Given the description of an element on the screen output the (x, y) to click on. 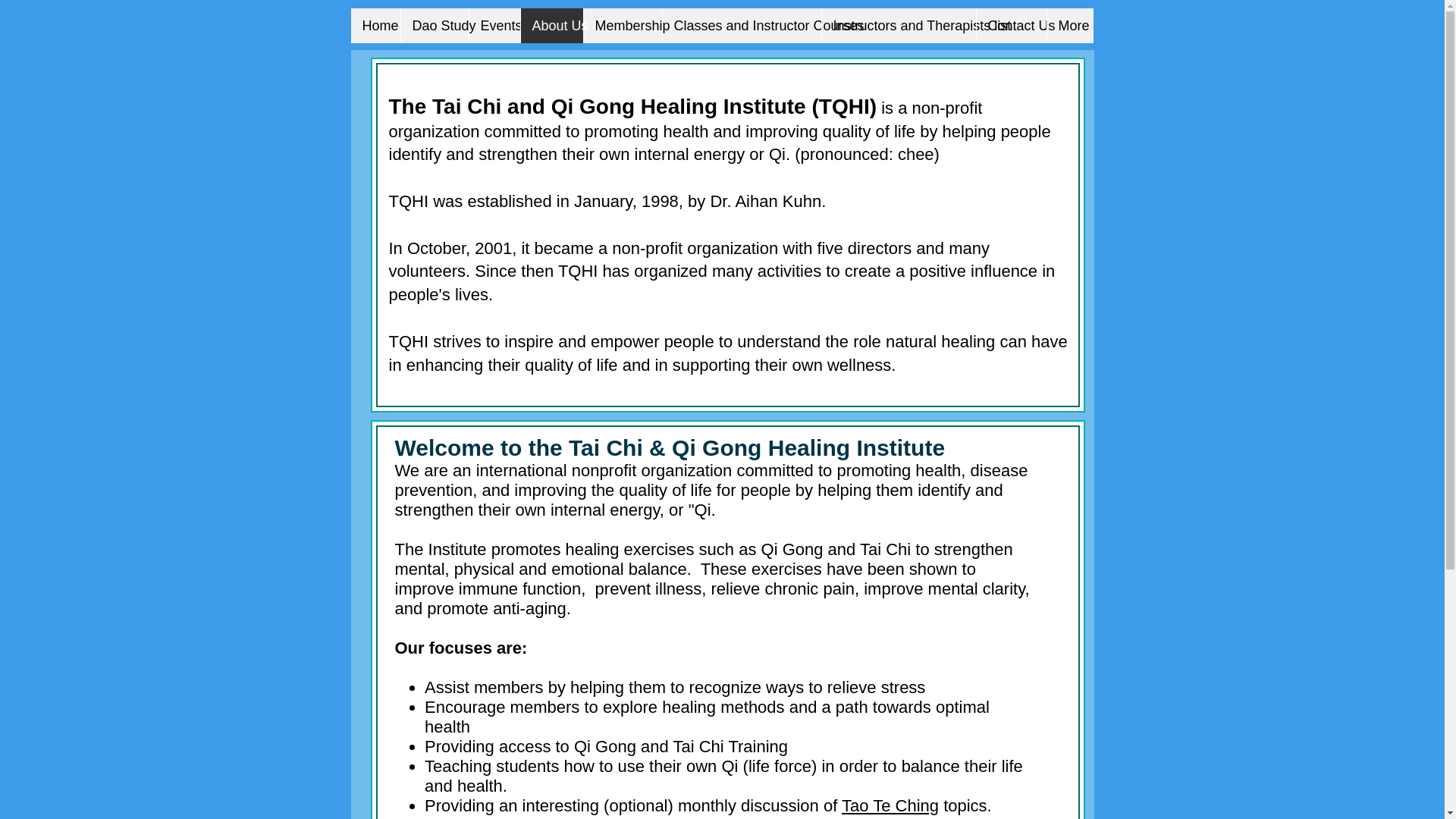
Home (374, 25)
Events (493, 25)
Membership (621, 25)
Contact Us (1010, 25)
Instructors and Therapists list (898, 25)
Classes and Instructor Courses (741, 25)
Tai Chi and Qi Gong (533, 106)
TQHI (843, 106)
About Us (551, 25)
Dao Study (434, 25)
